Given the description of an element on the screen output the (x, y) to click on. 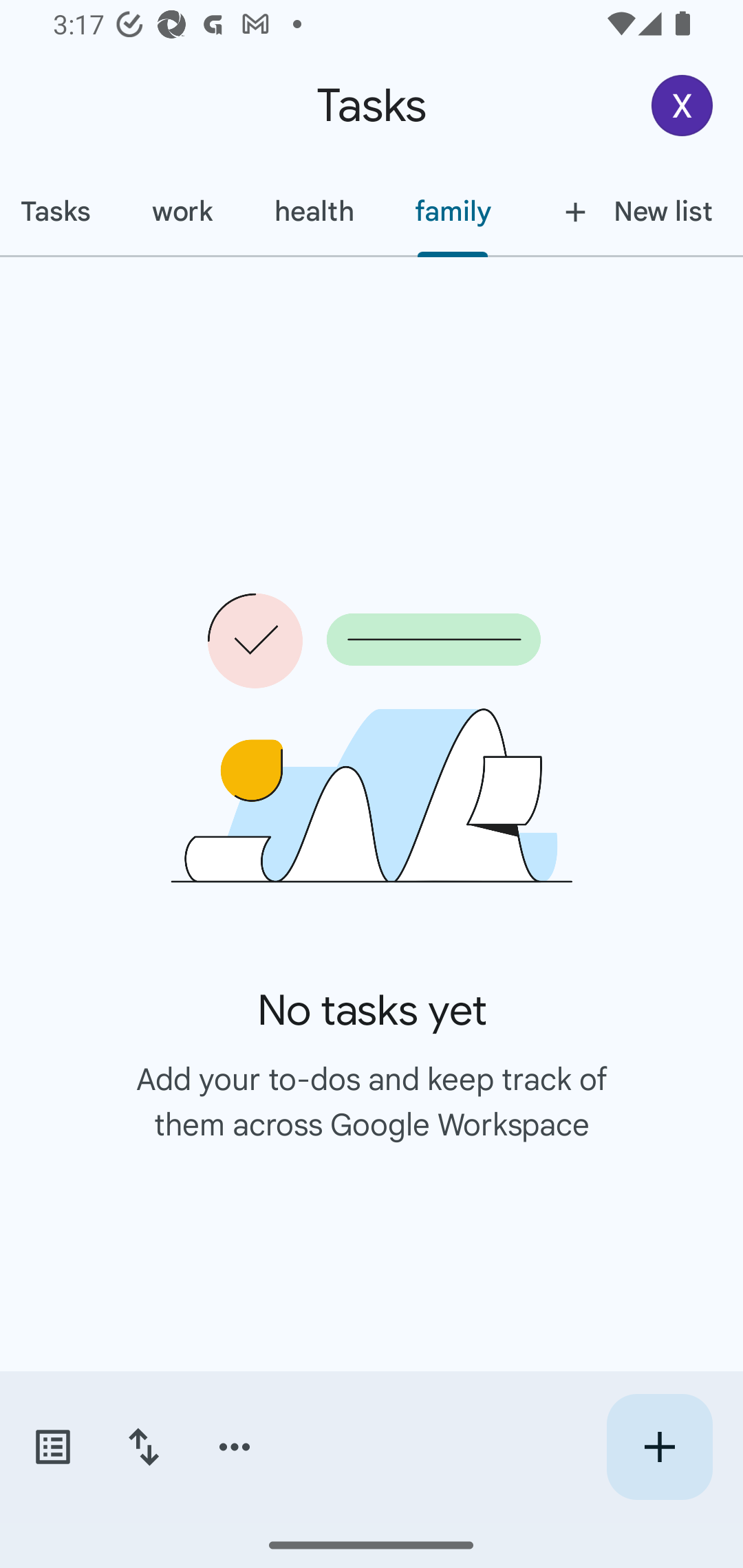
My Tasks (60, 211)
work (182, 211)
health (313, 211)
New list (632, 211)
Switch task lists (52, 1447)
Create new task (659, 1446)
Change sort order (143, 1446)
More options (234, 1446)
